Given the description of an element on the screen output the (x, y) to click on. 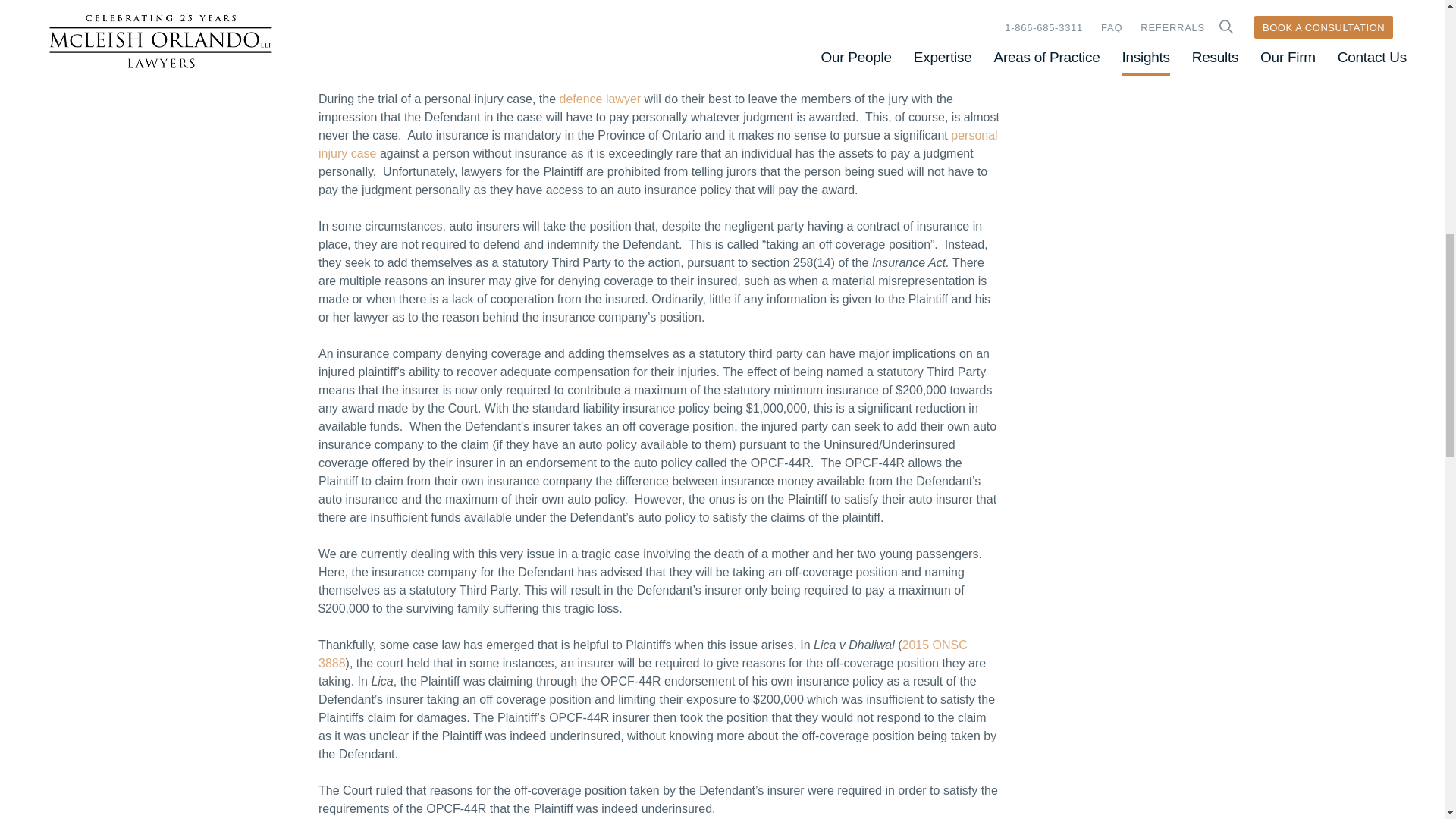
Off-Coverage Positions: The Requirement for Reasons 1 (588, 25)
